Given the description of an element on the screen output the (x, y) to click on. 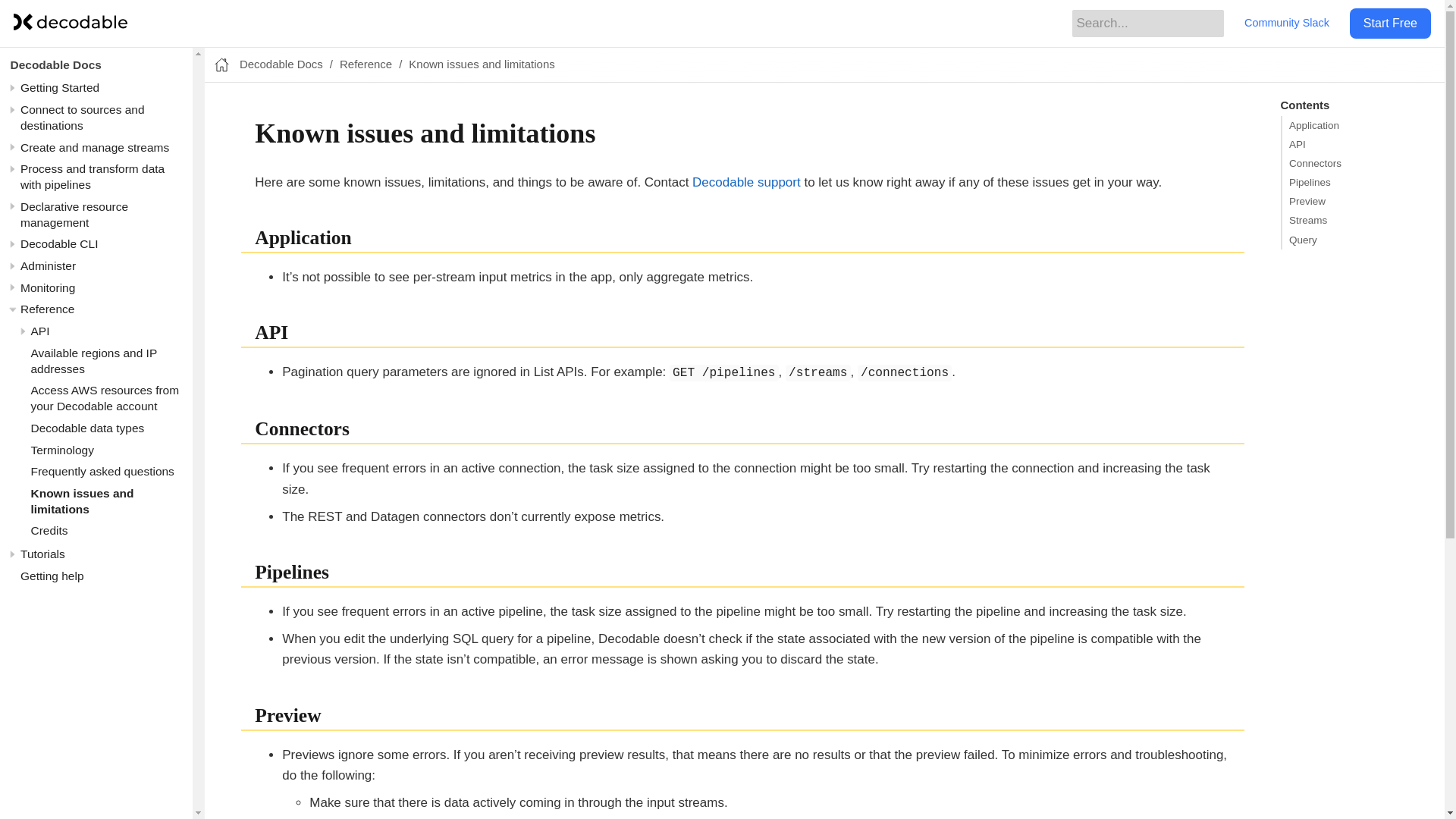
Start Free (1390, 23)
Decodable Docs (55, 64)
Community Slack (1286, 23)
Connect to sources and destinations (82, 117)
Getting Started (59, 87)
